Given the description of an element on the screen output the (x, y) to click on. 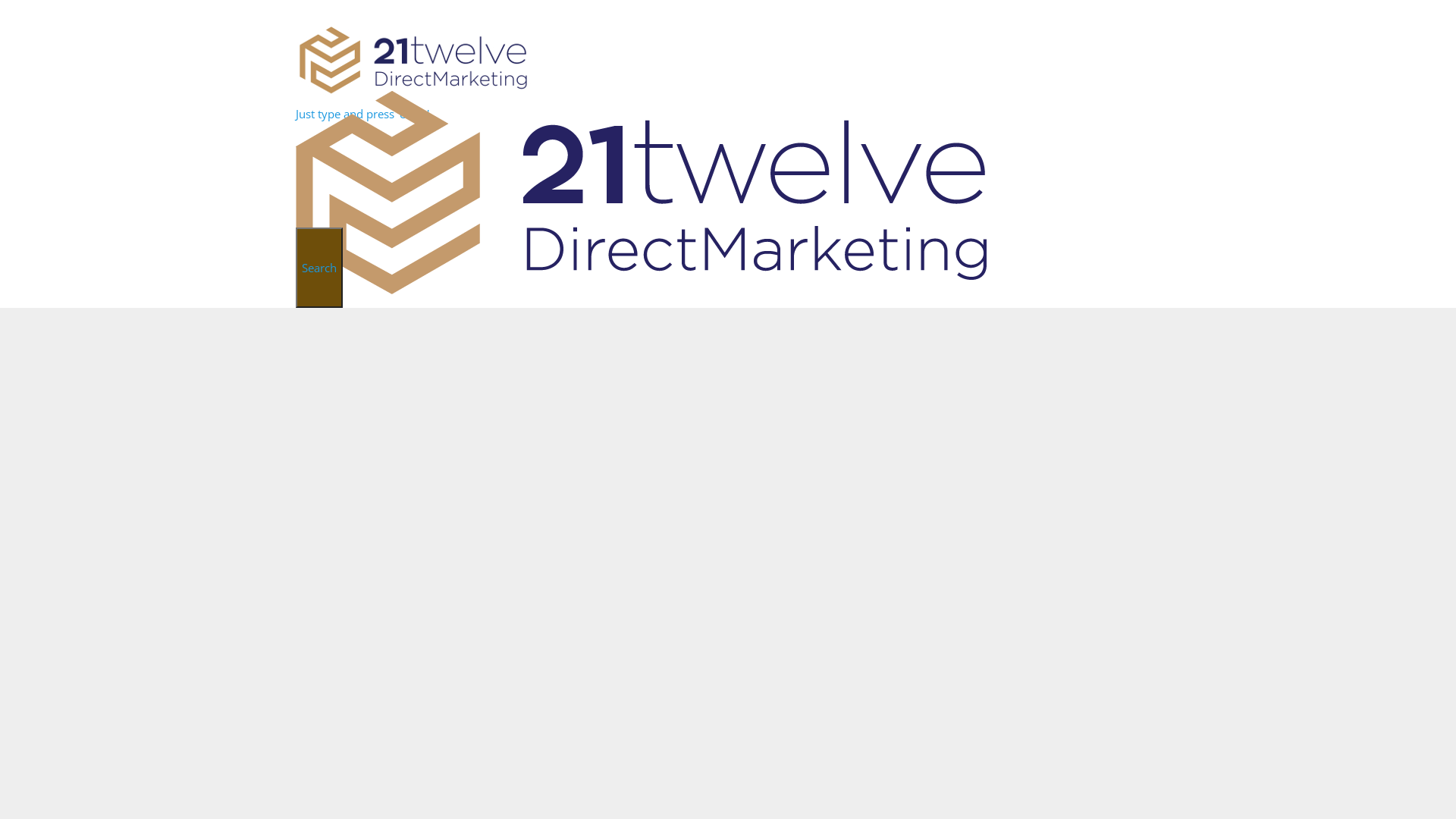
Search Element type: text (318, 267)
